Given the description of an element on the screen output the (x, y) to click on. 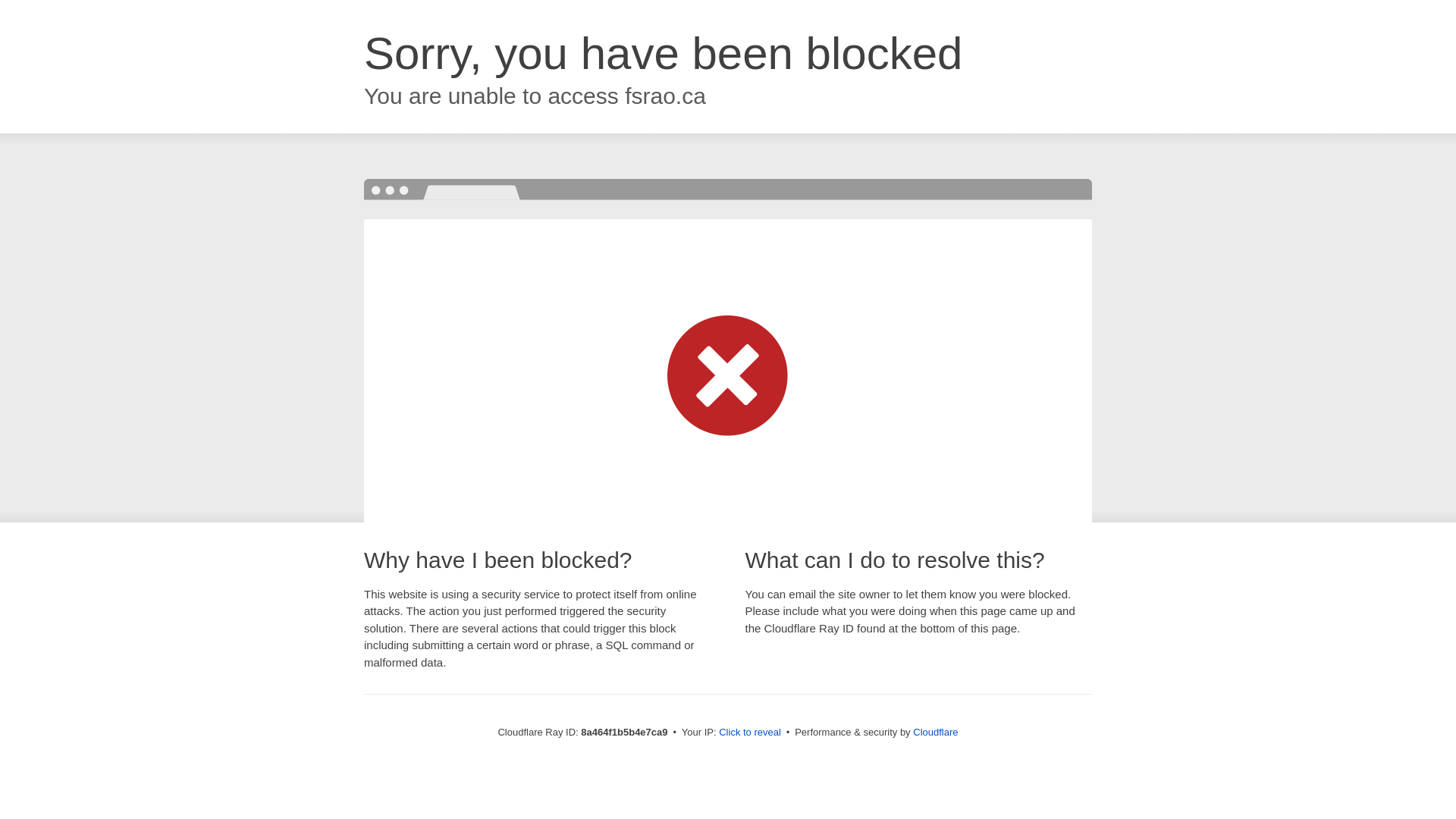
Cloudflare (935, 731)
Click to reveal (749, 732)
